Given the description of an element on the screen output the (x, y) to click on. 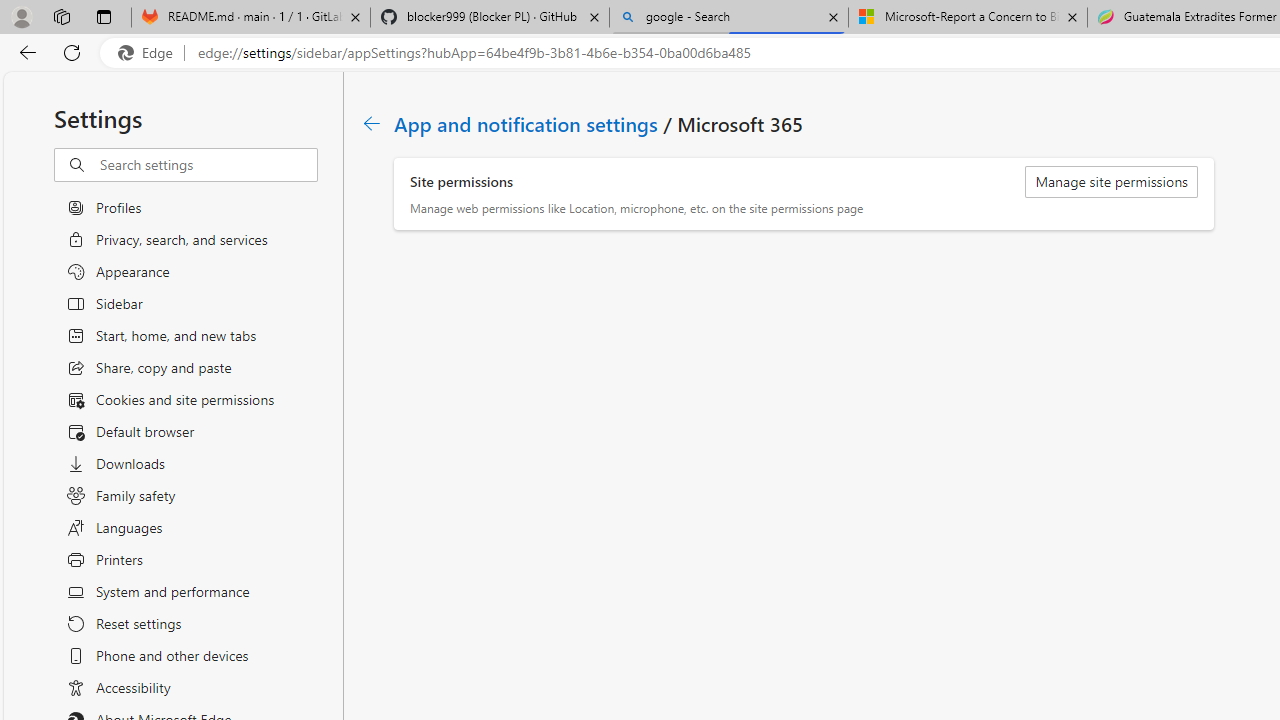
App and notification settings (527, 123)
google - Search (729, 17)
Microsoft-Report a Concern to Bing (967, 17)
Manage site permissions (1111, 182)
Search settings (207, 165)
Class: c01182 (371, 123)
Edge (150, 53)
